Given the description of an element on the screen output the (x, y) to click on. 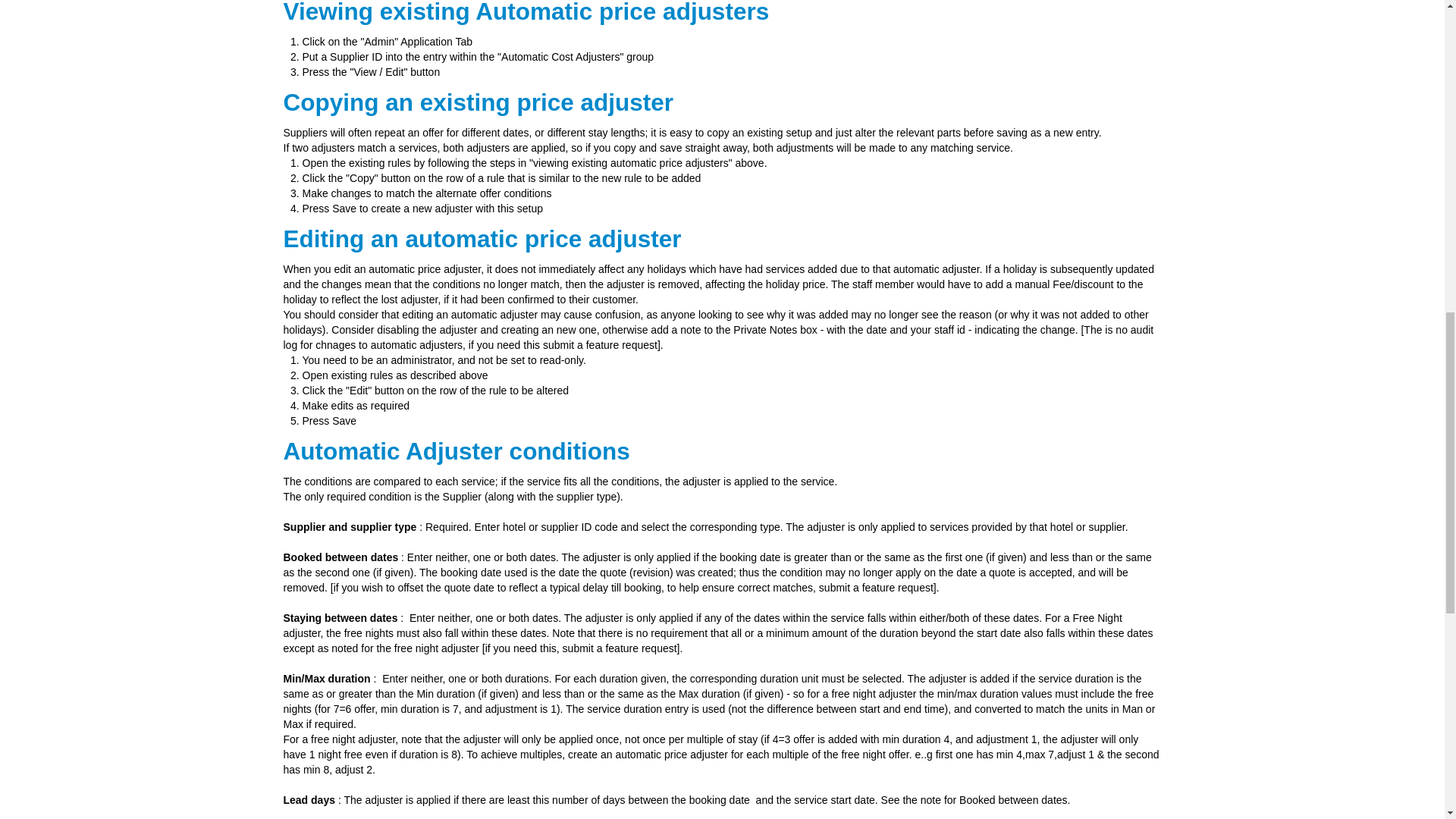
Automatic Adjuster conditions (456, 451)
Copying an existing price adjuster (478, 102)
Editing an automatic price adjuster (482, 238)
Viewing existing Automatic price adjusters (526, 12)
